Given the description of an element on the screen output the (x, y) to click on. 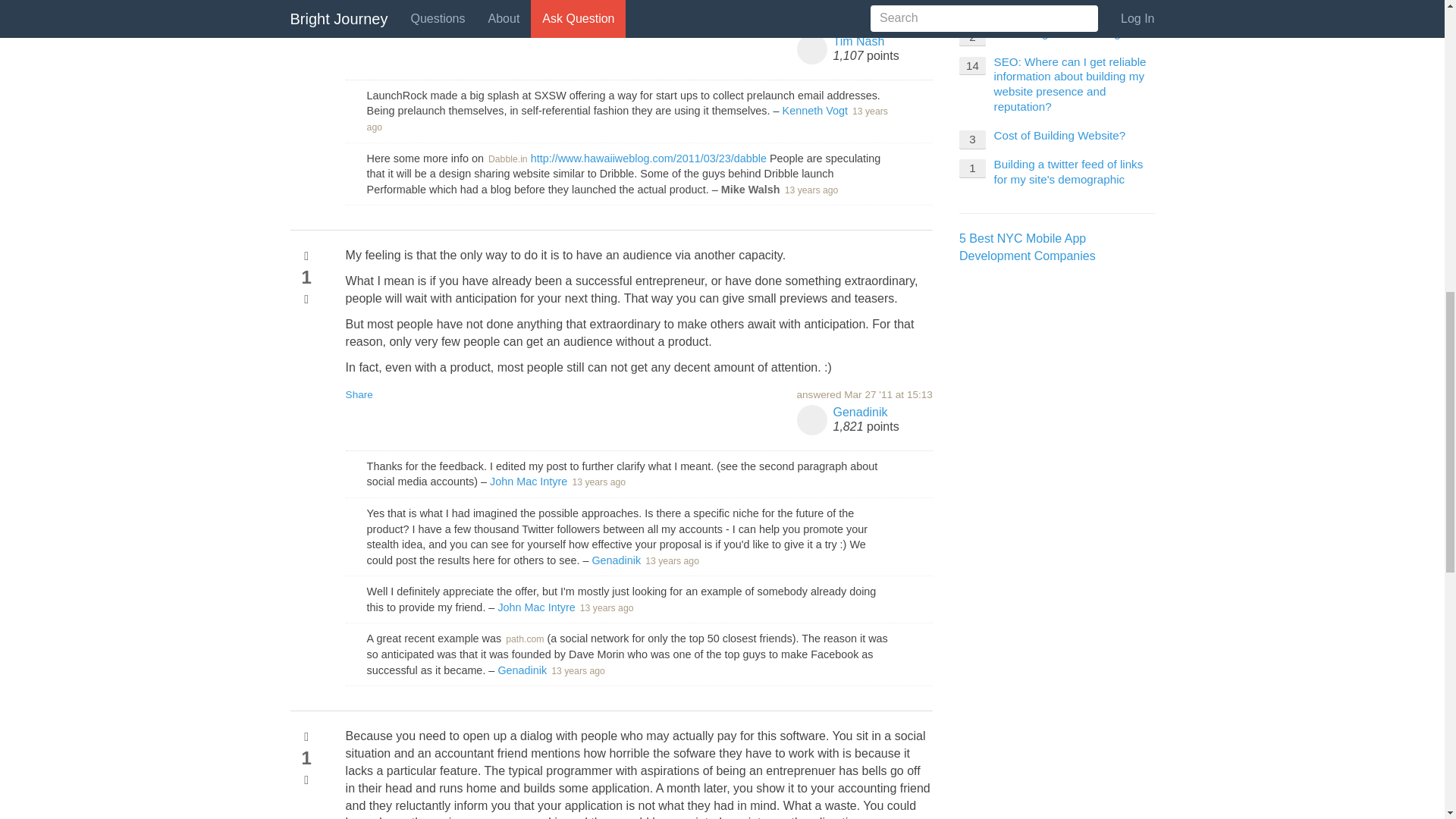
John Mac Intyre (528, 481)
You need to be logged in to vote (306, 736)
Genadinik (615, 560)
Tim Nash (857, 41)
Kenneth Vogt (815, 110)
Genadinik (859, 411)
Share (359, 394)
Share (359, 23)
You need to be logged in to vote (306, 779)
You need to be logged in to vote (306, 256)
Genadinik (522, 670)
John Mac Intyre (536, 607)
You need to be logged in to vote (306, 299)
